Given the description of an element on the screen output the (x, y) to click on. 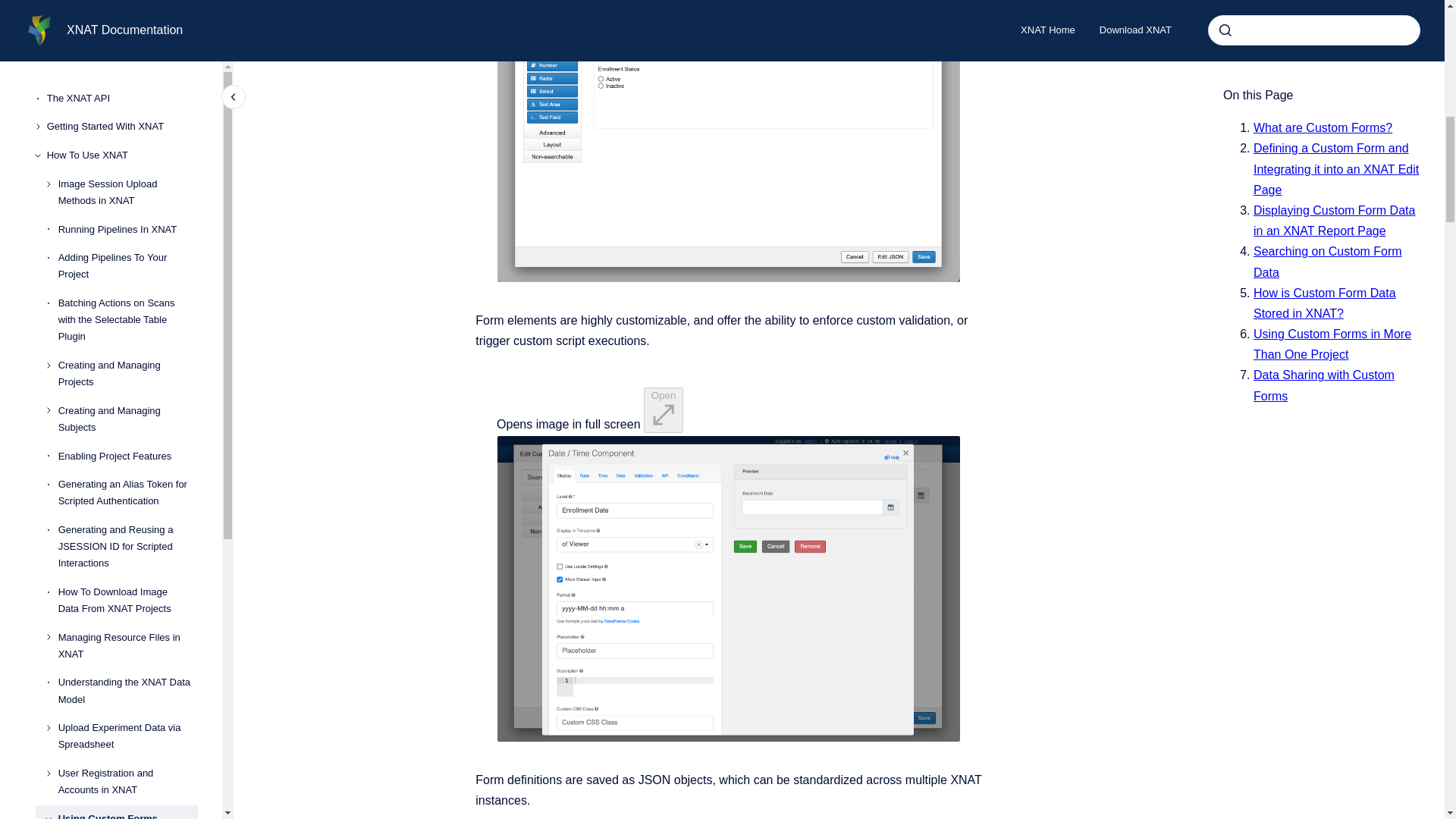
Creating a Custom Form (133, 29)
Data Sharing with Custom Forms (133, 111)
Using Custom Forms (128, 7)
Editing Custom Forms (133, 148)
Custom Form Integration with XNAT Search (133, 65)
Opting in or Out of a Custom Form in your Project (133, 193)
